Given the description of an element on the screen output the (x, y) to click on. 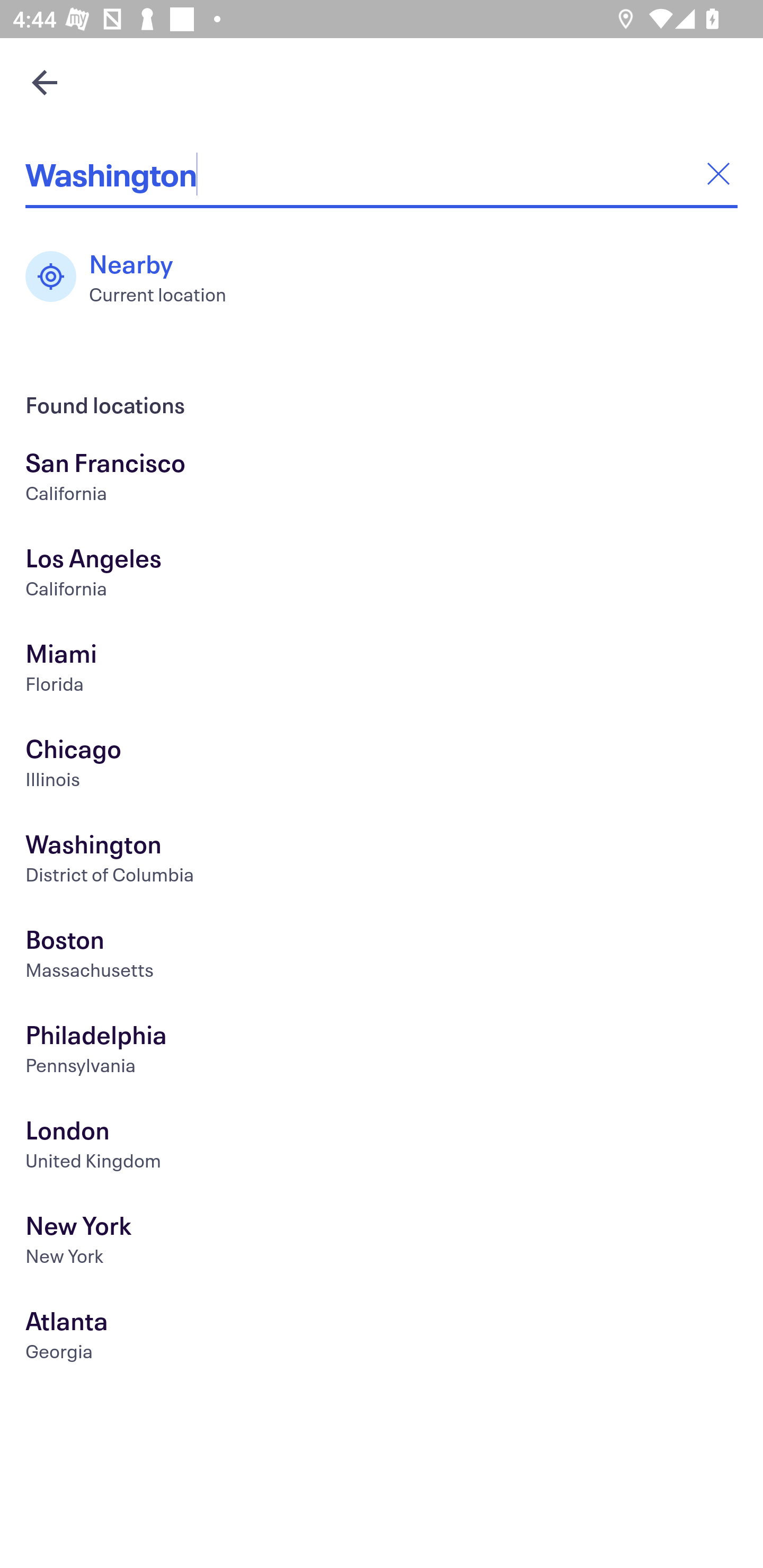
Navigate up (44, 82)
Washington (381, 173)
Nearby Current location (135, 276)
San Francisco California (381, 479)
Los Angeles California (381, 574)
Miami Florida (381, 670)
Chicago Illinois (381, 765)
Washington District of Columbia (381, 861)
Boston Massachusetts (381, 955)
Philadelphia Pennsylvania (381, 1051)
London United Kingdom (381, 1146)
New York (381, 1242)
Atlanta Georgia (381, 1338)
